Given the description of an element on the screen output the (x, y) to click on. 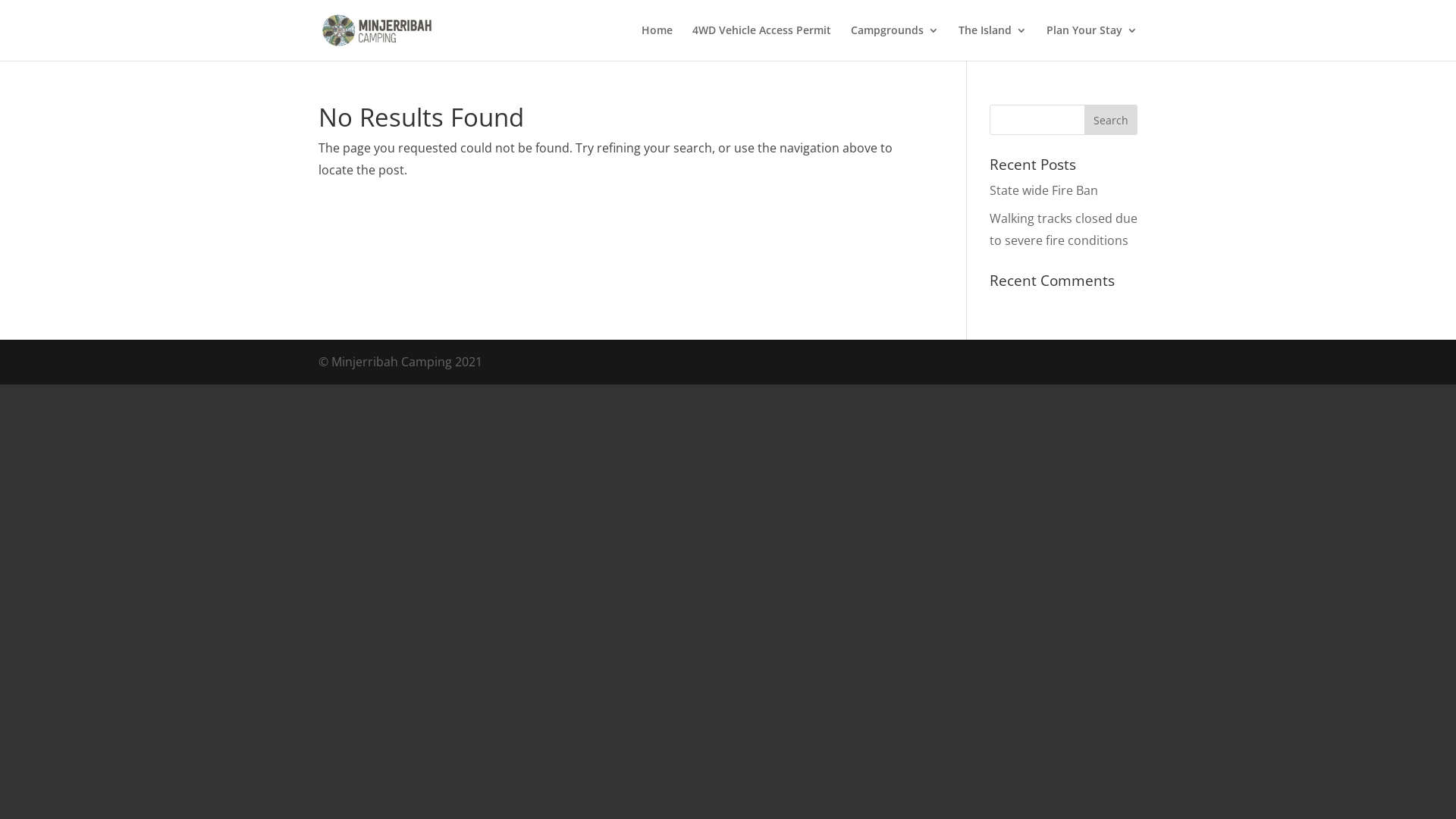
Plan Your Stay Element type: text (1091, 42)
The Island Element type: text (992, 42)
4WD Vehicle Access Permit Element type: text (761, 42)
Home Element type: text (656, 42)
Walking tracks closed due to severe fire conditions Element type: text (1063, 229)
State wide Fire Ban Element type: text (1043, 190)
Campgrounds Element type: text (894, 42)
Search Element type: text (1110, 119)
